Given the description of an element on the screen output the (x, y) to click on. 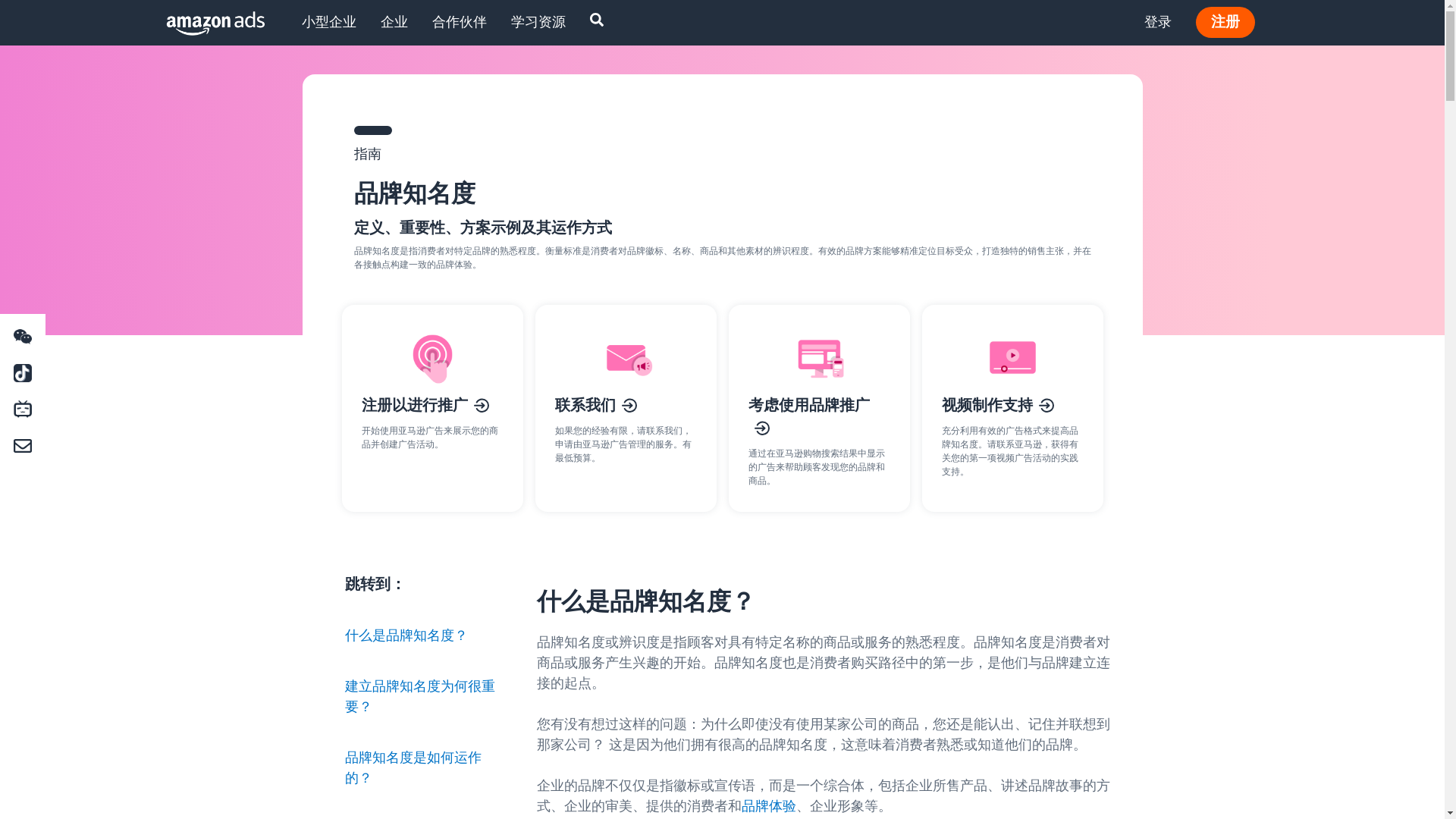
Amazon Ads (202, 22)
